Given the description of an element on the screen output the (x, y) to click on. 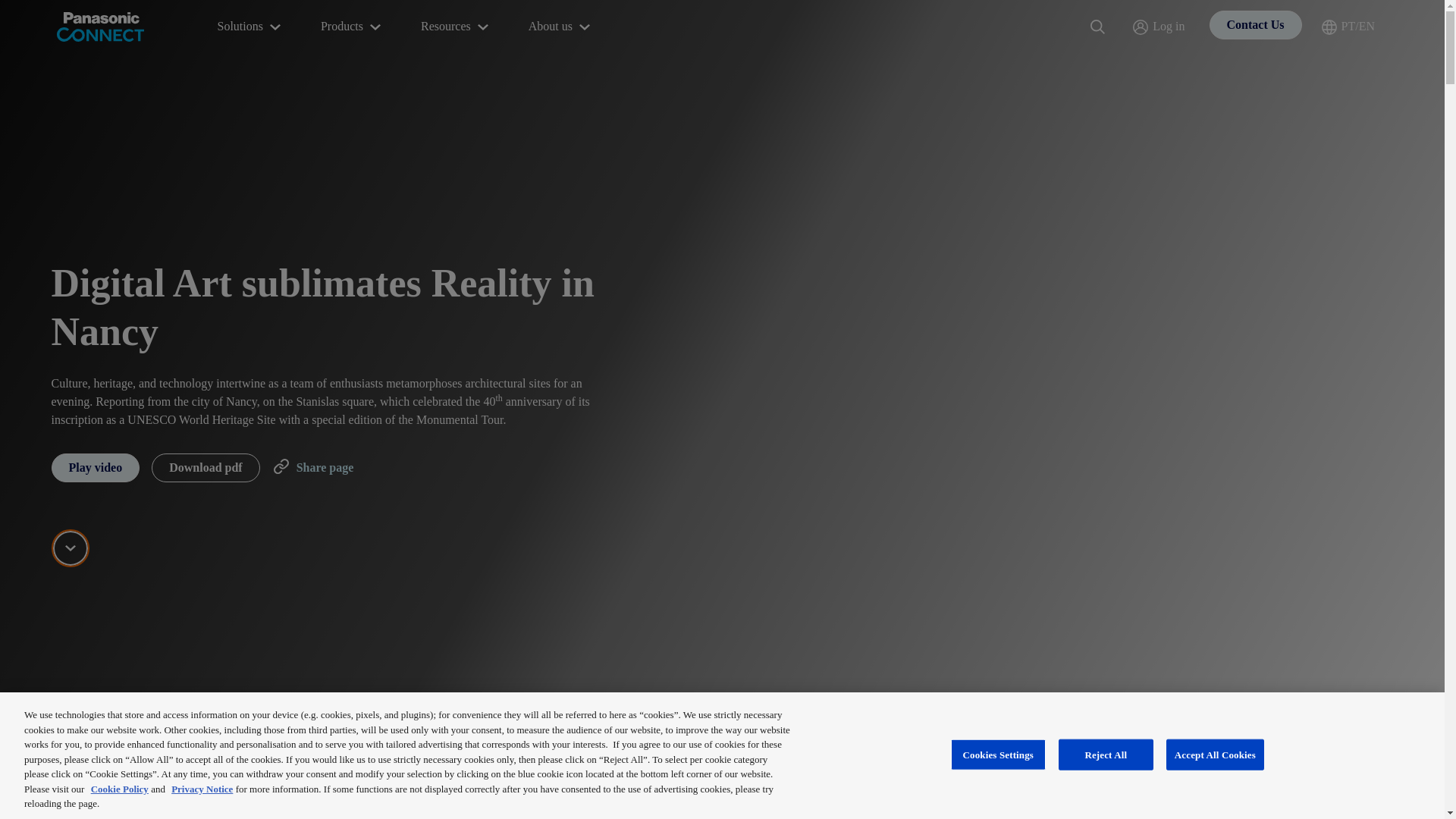
Solutions (250, 26)
Resources (455, 26)
Products (352, 26)
